Given the description of an element on the screen output the (x, y) to click on. 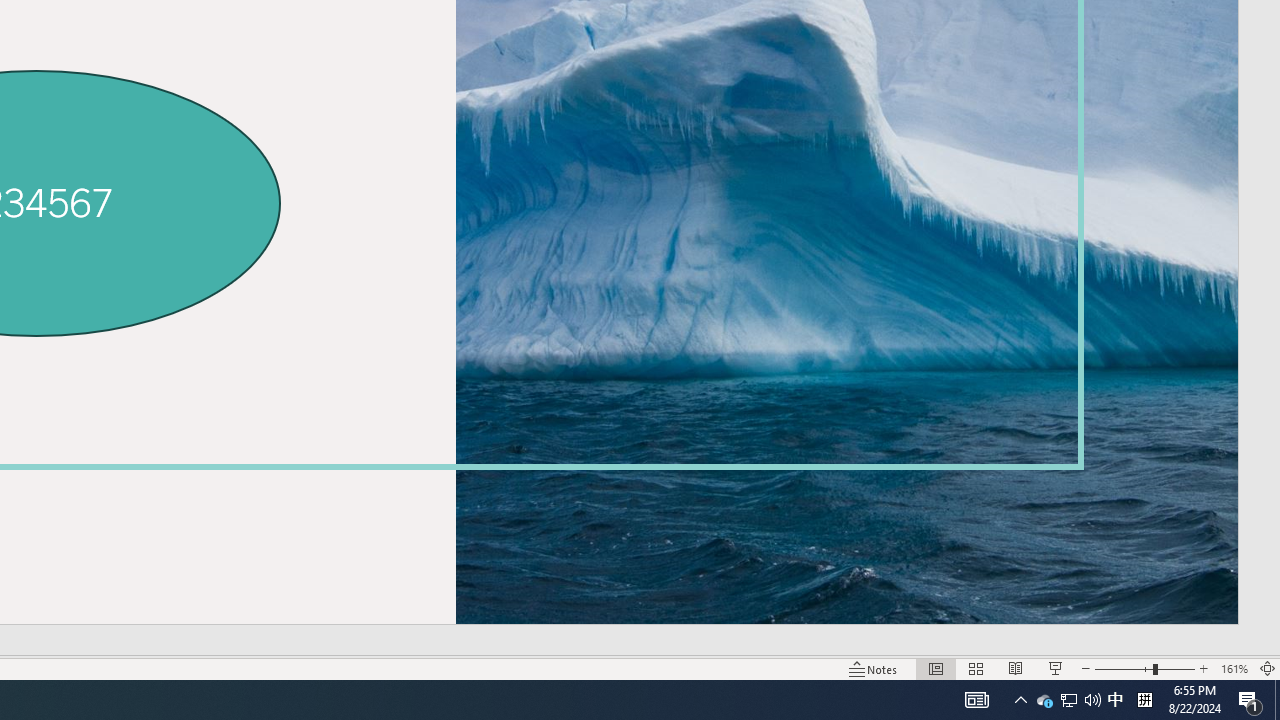
Zoom 161% (1234, 668)
